Given the description of an element on the screen output the (x, y) to click on. 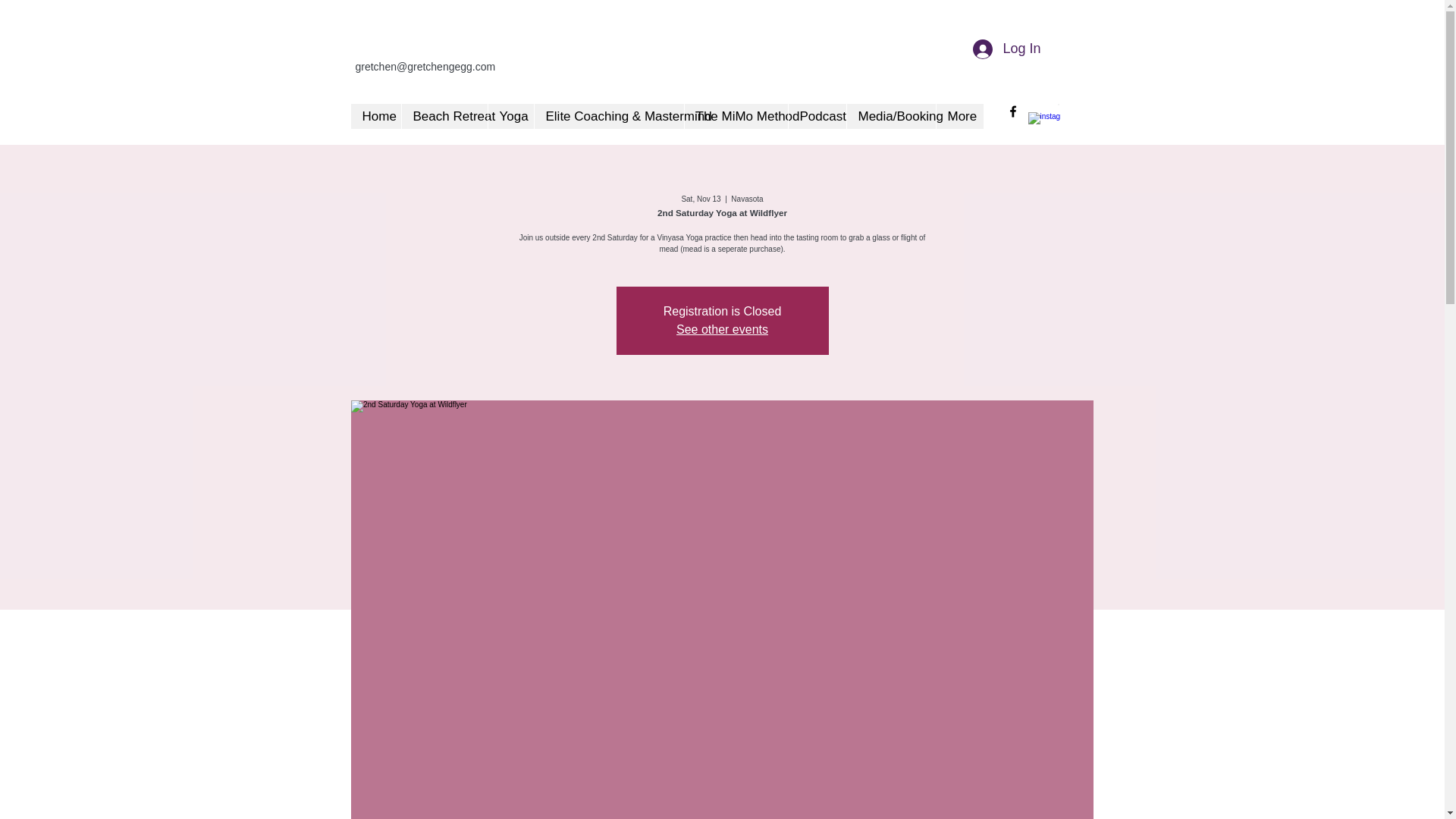
The MiMo Method (735, 116)
Podcast (816, 116)
Yoga (509, 116)
Log In (1004, 49)
Beach Retreat (443, 116)
See other events (722, 328)
Home (375, 116)
